Given the description of an element on the screen output the (x, y) to click on. 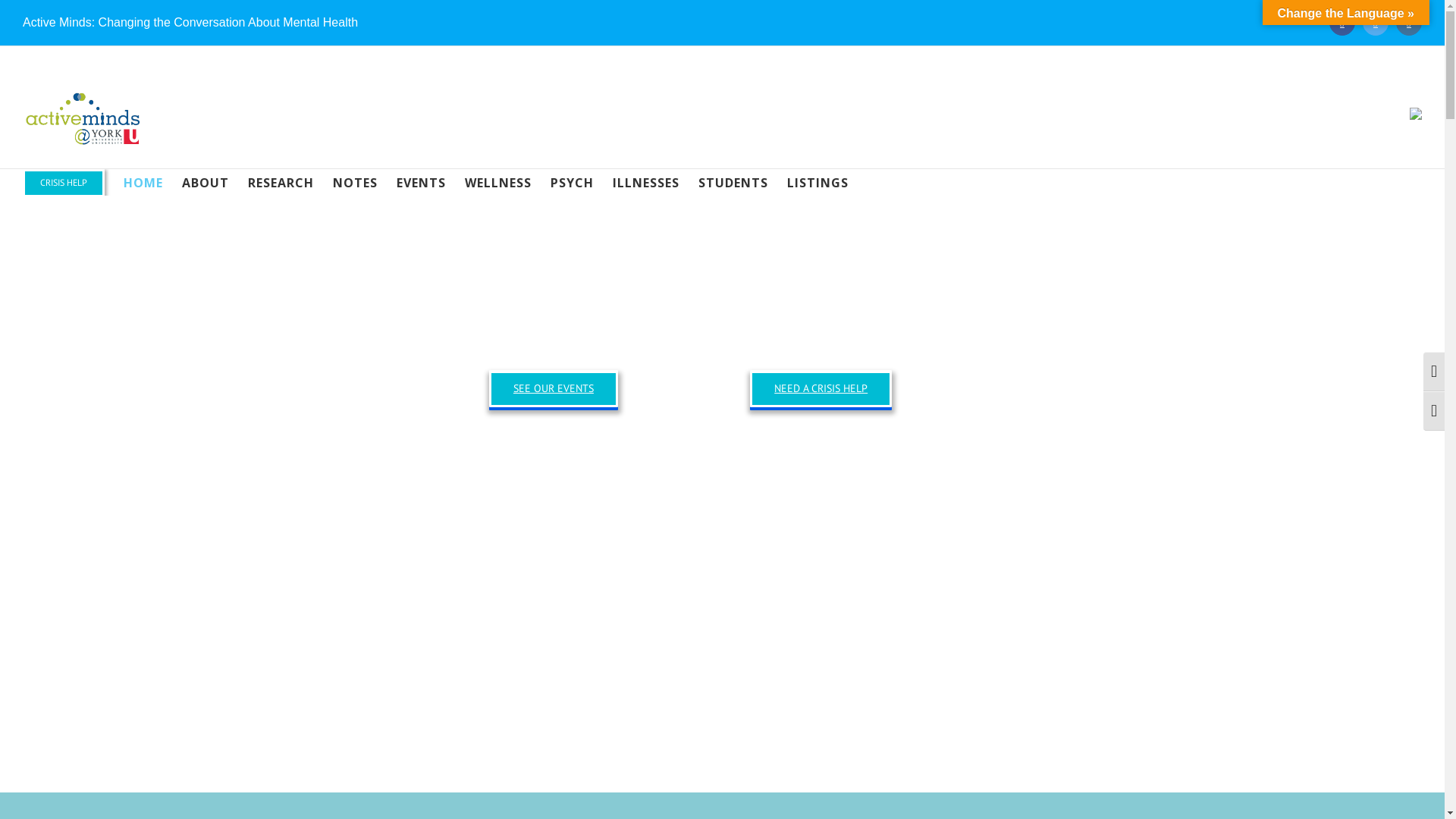
HOME Element type: text (143, 182)
STUDENTS Element type: text (733, 182)
LISTINGS Element type: text (817, 182)
Toggle High Contrast Element type: text (1433, 371)
NOTES Element type: text (354, 182)
NEED A CRISIS HELP Element type: text (820, 388)
ABOUT Element type: text (205, 182)
Toggle Font size Element type: text (1433, 410)
twitter Element type: text (1375, 22)
facebook Element type: text (1342, 22)
WELLNESS Element type: text (497, 182)
CRISIS HELP Element type: text (63, 182)
instagram Element type: text (1408, 22)
EVENTS Element type: text (420, 182)
RESEARCH Element type: text (280, 182)
ILLNESSES Element type: text (645, 182)
SEE OUR EVENTS Element type: text (553, 388)
PSYCH Element type: text (571, 182)
